Given the description of an element on the screen output the (x, y) to click on. 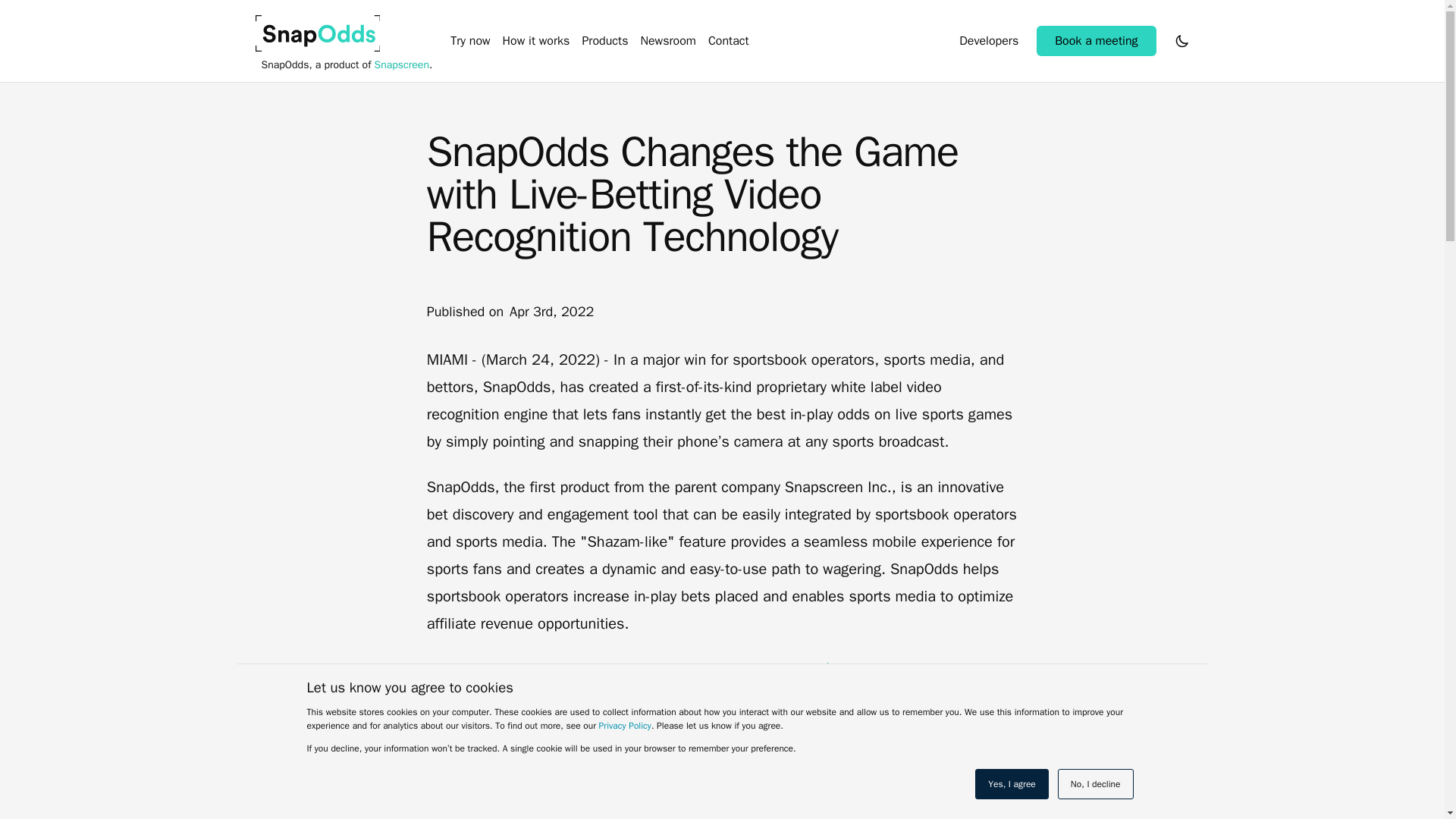
Book a meeting (1096, 40)
Snapscreen (401, 65)
How it works (536, 40)
Products (603, 40)
Contact (728, 40)
Developers (988, 40)
No, I decline (1096, 784)
SnapOdds (316, 33)
Yes, I agree (1011, 784)
Privacy Policy (624, 725)
Try now (469, 40)
Newsroom (667, 40)
Switch to dark mode (1181, 40)
